Given the description of an element on the screen output the (x, y) to click on. 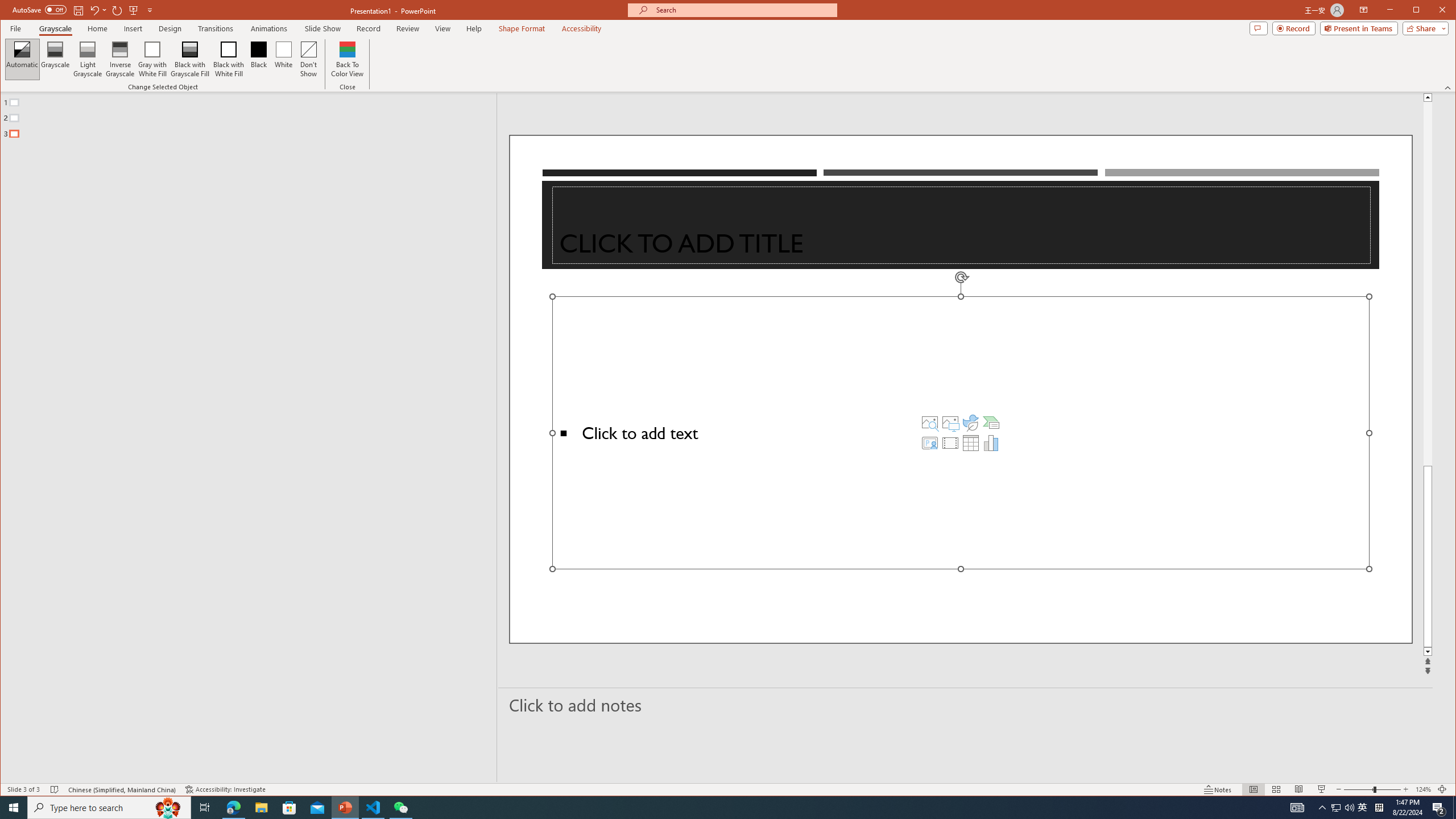
Insert a SmartArt Graphic (991, 422)
Content Placeholder (960, 432)
